Given the description of an element on the screen output the (x, y) to click on. 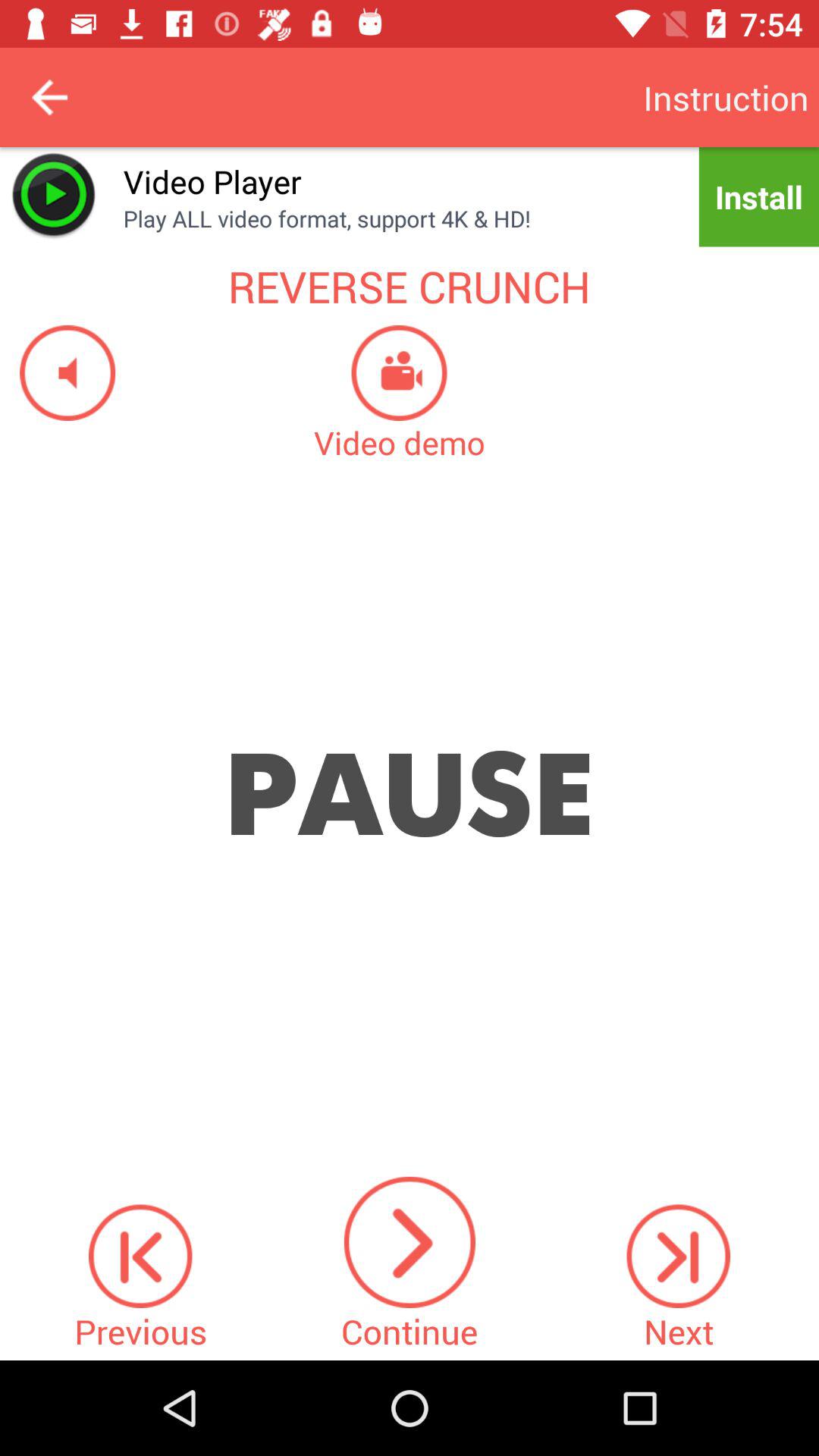
increase or decrease volume (57, 372)
